Given the description of an element on the screen output the (x, y) to click on. 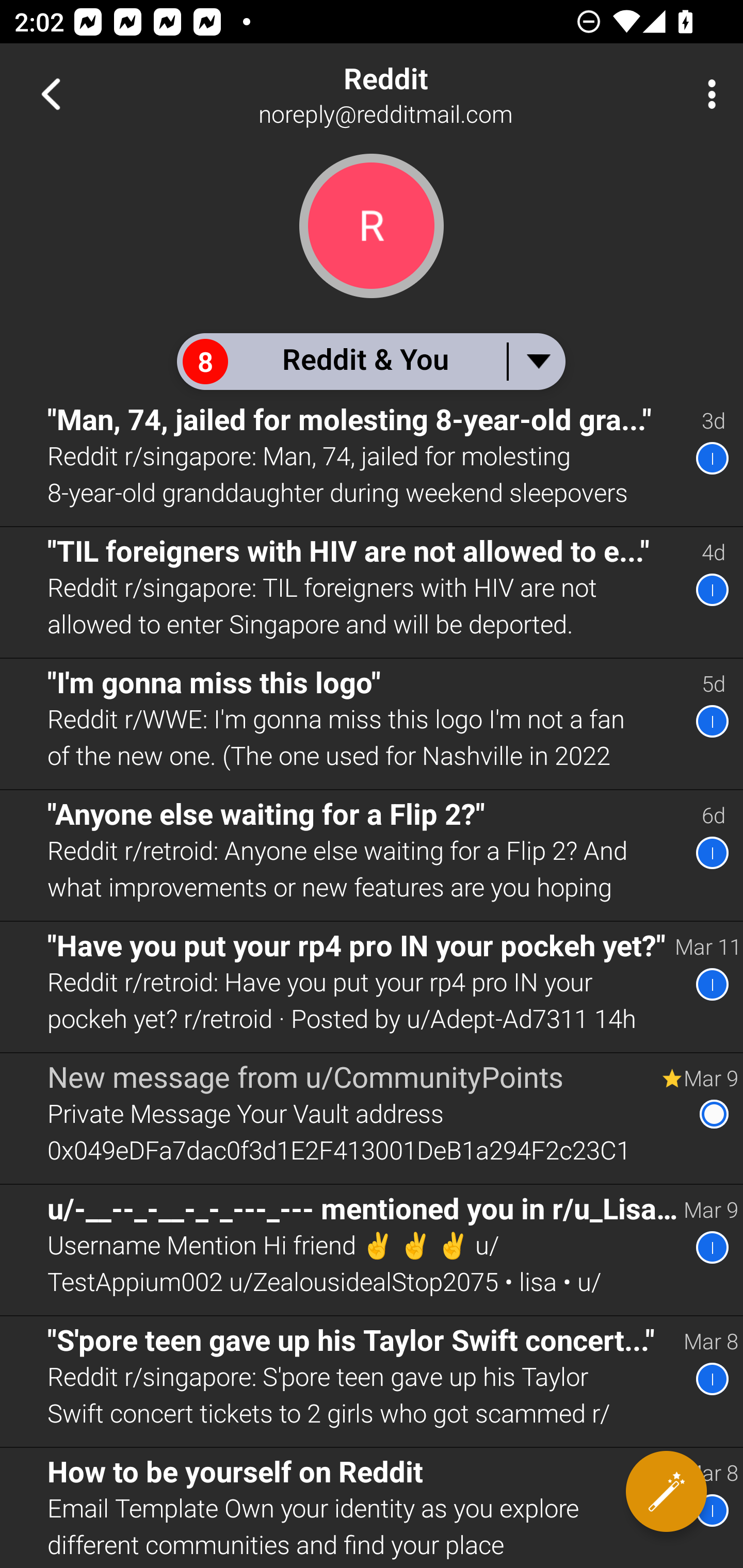
Navigate up (50, 93)
Reddit noreply@redditmail.com (436, 93)
More Options (706, 93)
8 Reddit & You (370, 361)
